Given the description of an element on the screen output the (x, y) to click on. 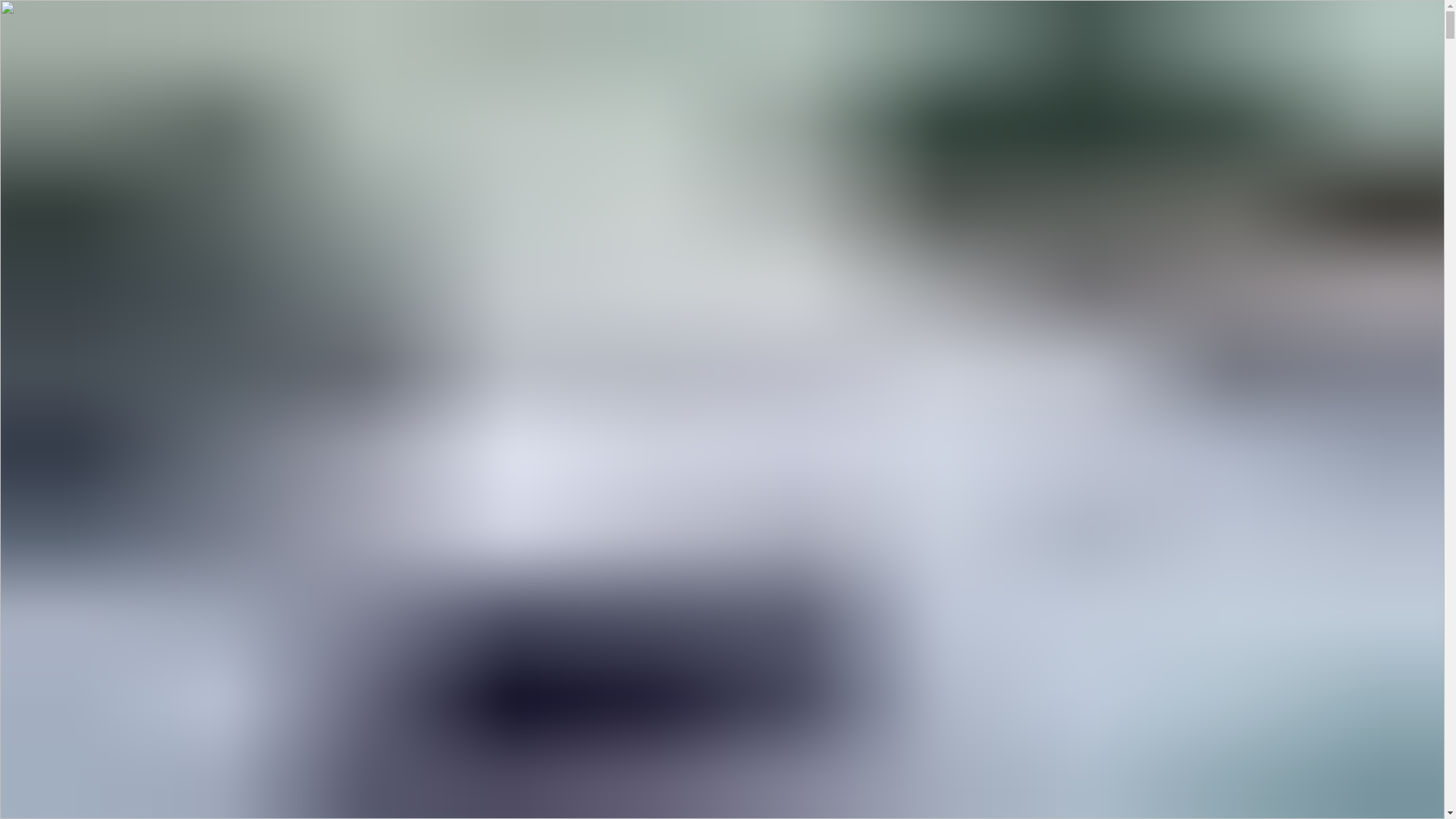
Login (50, 103)
Go to content (41, 45)
